Given the description of an element on the screen output the (x, y) to click on. 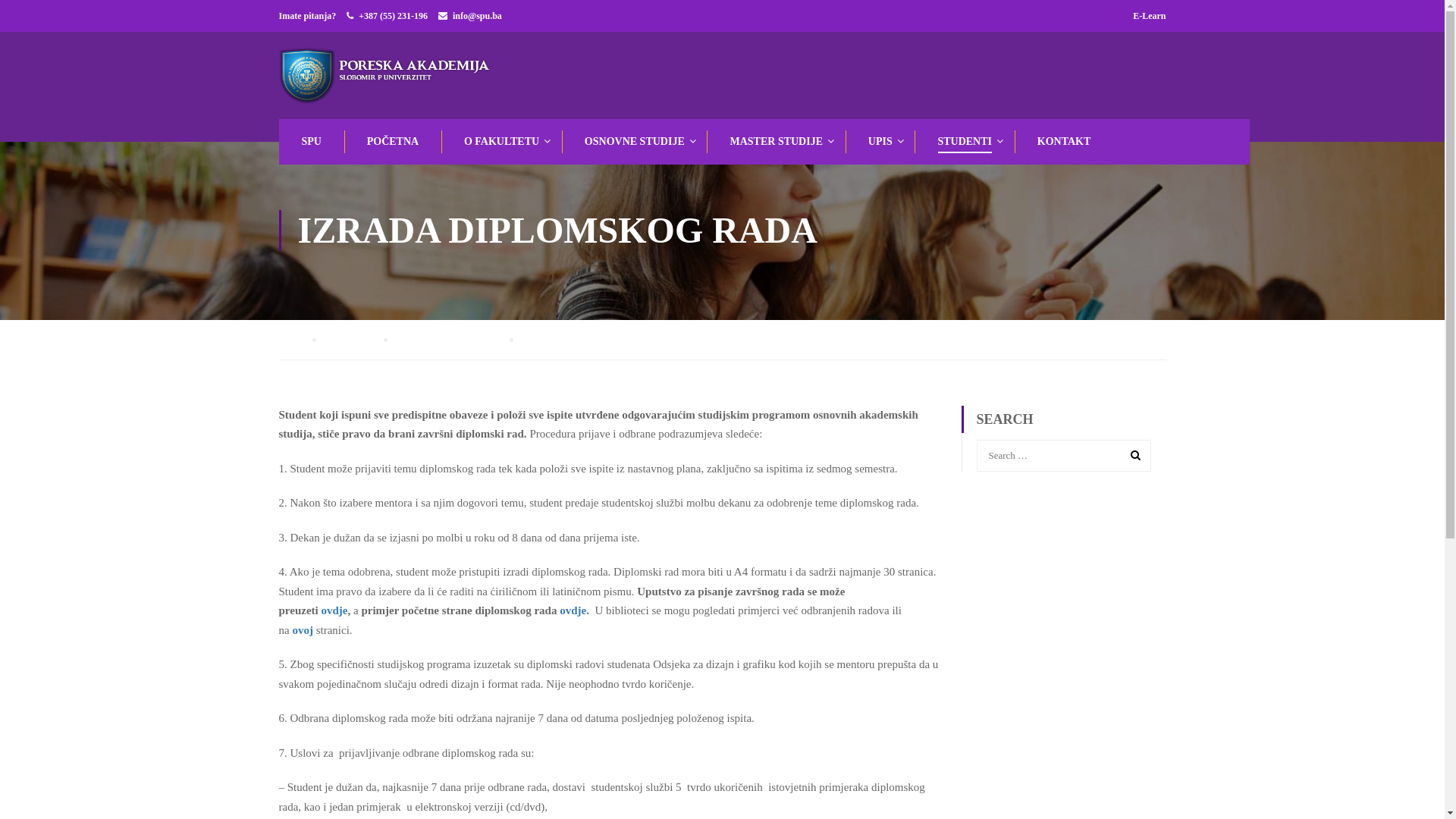
Home Element type: text (297, 338)
+387 (55) 231-196 Element type: text (392, 15)
ovdje Element type: text (572, 610)
Search Element type: text (1132, 454)
STUDENTI Element type: text (962, 141)
MASTER STUDIJE Element type: text (774, 141)
SPU Element type: text (310, 141)
KONTAKT Element type: text (1062, 141)
ovdje Element type: text (333, 610)
UPIS Element type: text (878, 141)
STUDENTI Element type: text (357, 338)
E-Learn Element type: text (1148, 15)
Poreska akademija - Slobomir P Univerzitet Element type: hover (388, 75)
Studentski radovi i projekti Element type: text (455, 338)
ovoj Element type: text (302, 630)
info@spu.ba Element type: text (477, 15)
OSNOVNE STUDIJE Element type: text (632, 141)
O FAKULTETU Element type: text (499, 141)
